Given the description of an element on the screen output the (x, y) to click on. 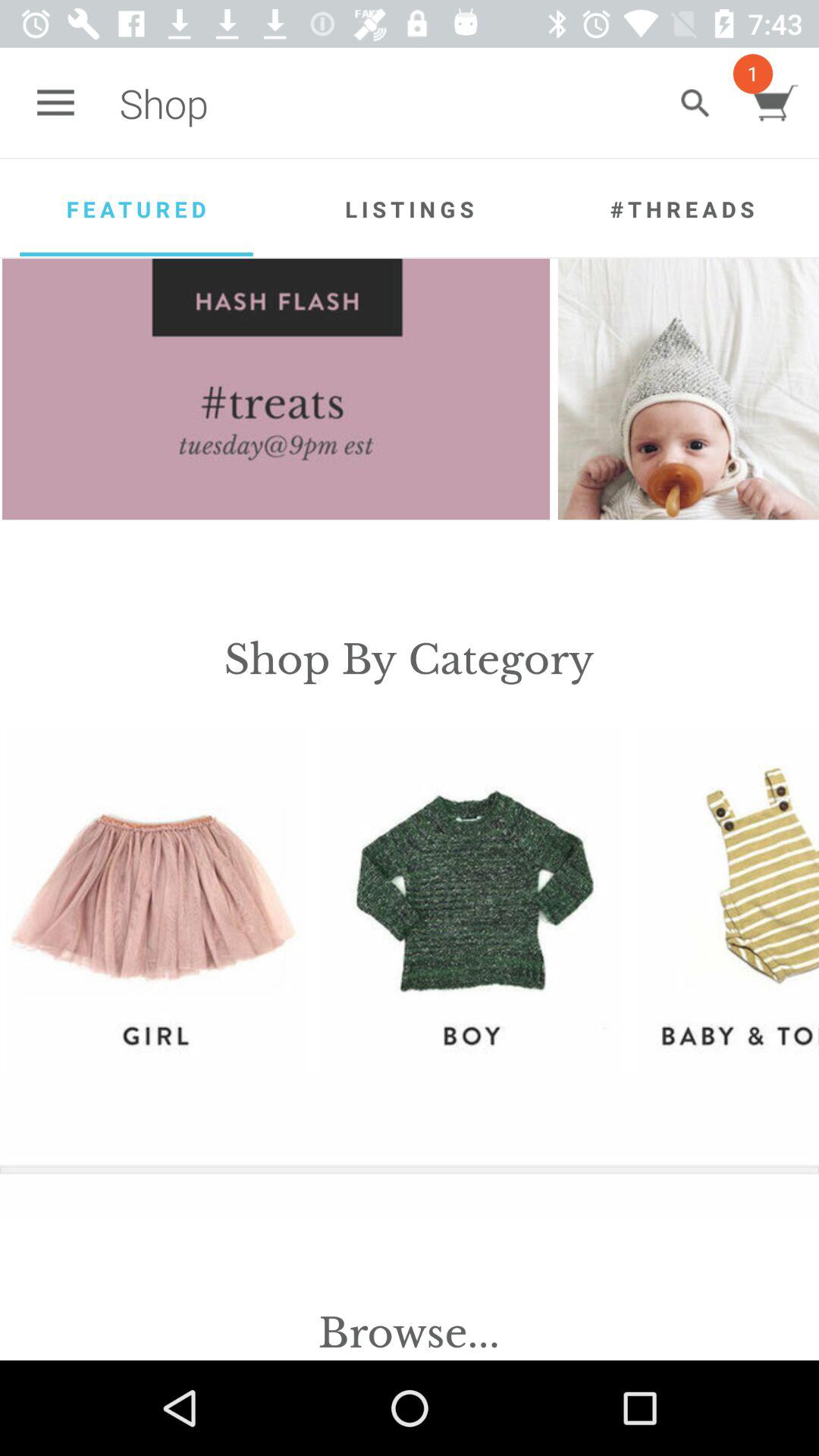
turn on browse... item (408, 1333)
